Given the description of an element on the screen output the (x, y) to click on. 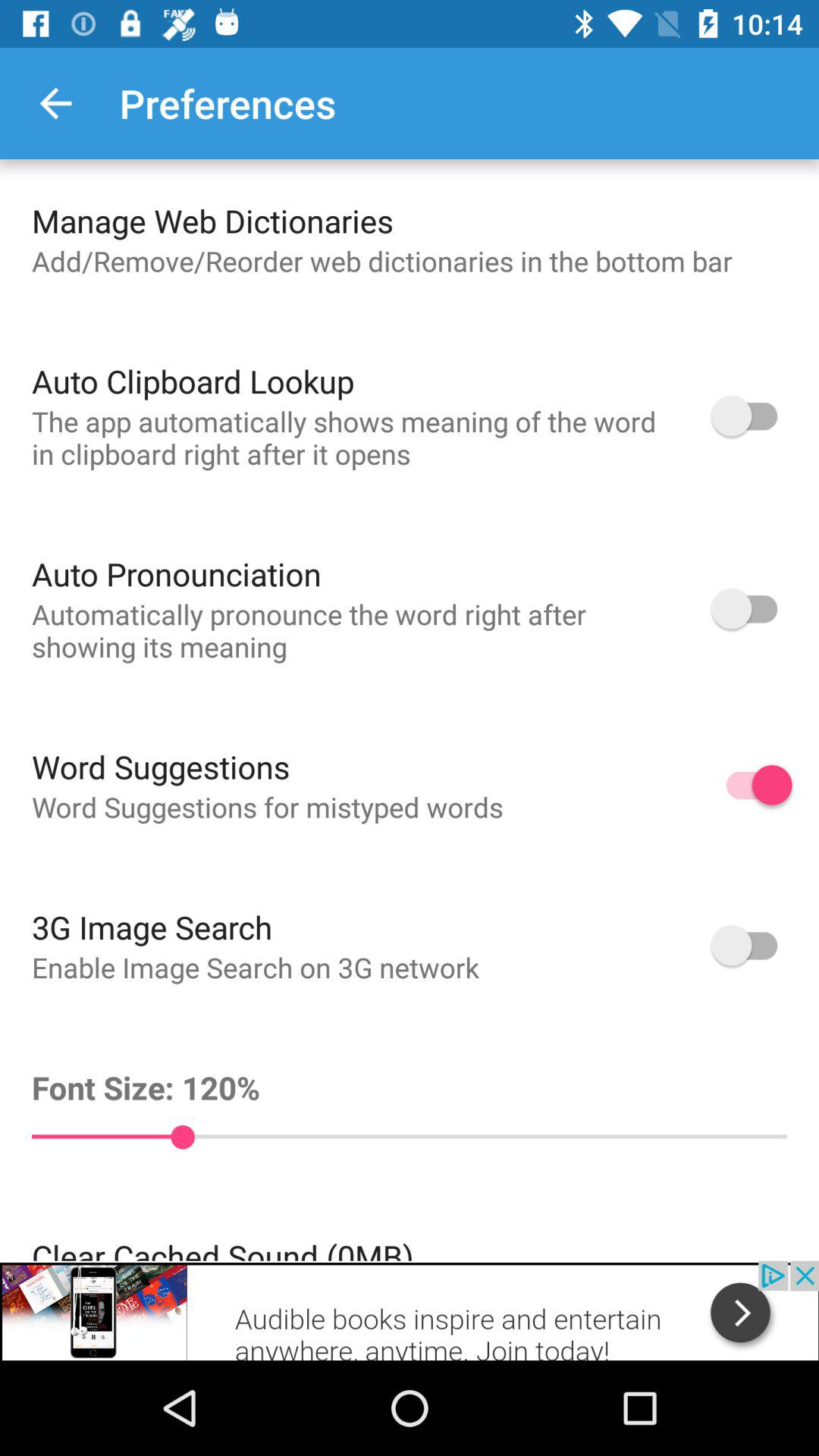
auto clipboard lookup on or off option (751, 416)
